Given the description of an element on the screen output the (x, y) to click on. 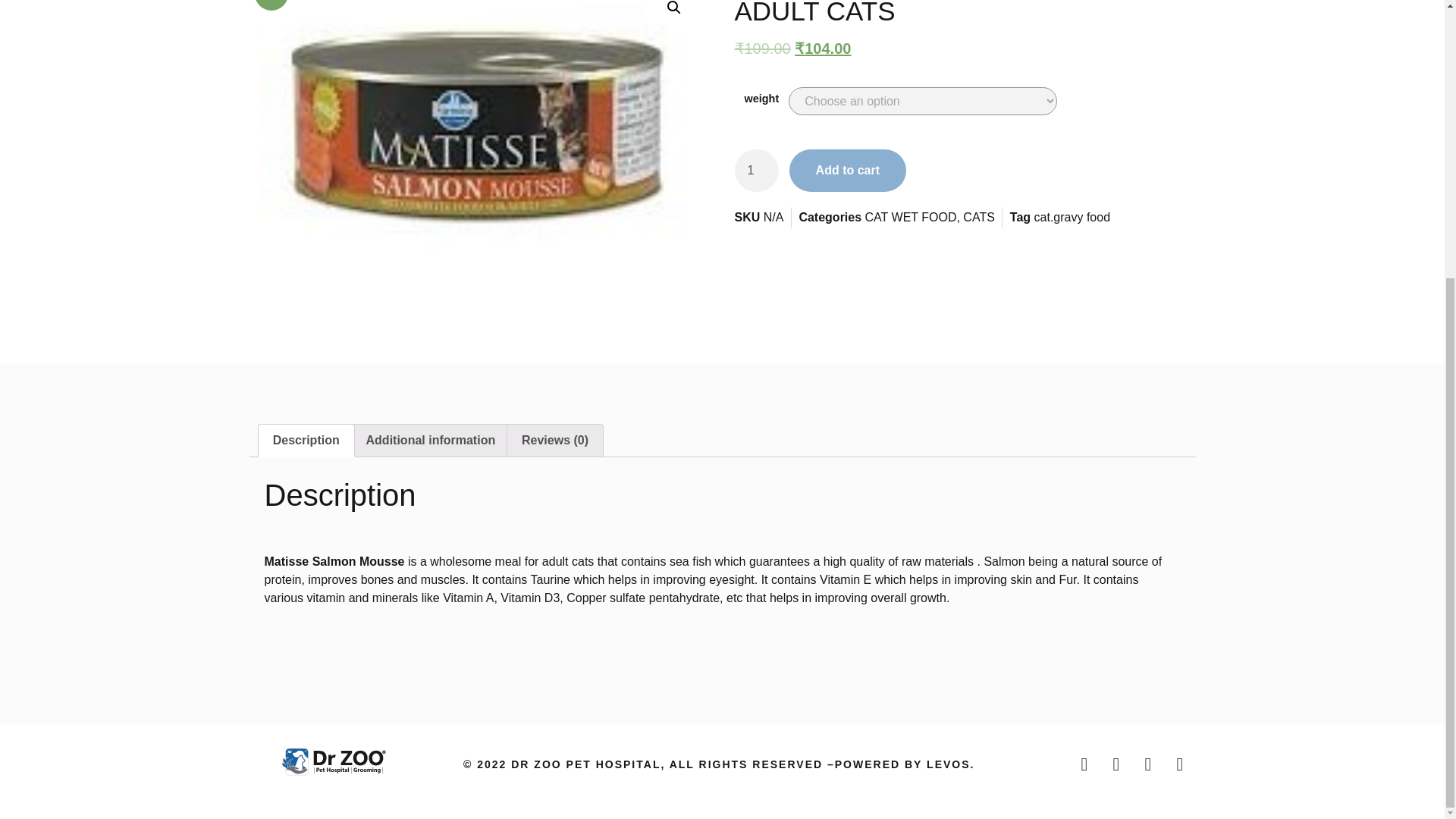
salmon (478, 133)
1 (755, 170)
Qty (755, 170)
